Given the description of an element on the screen output the (x, y) to click on. 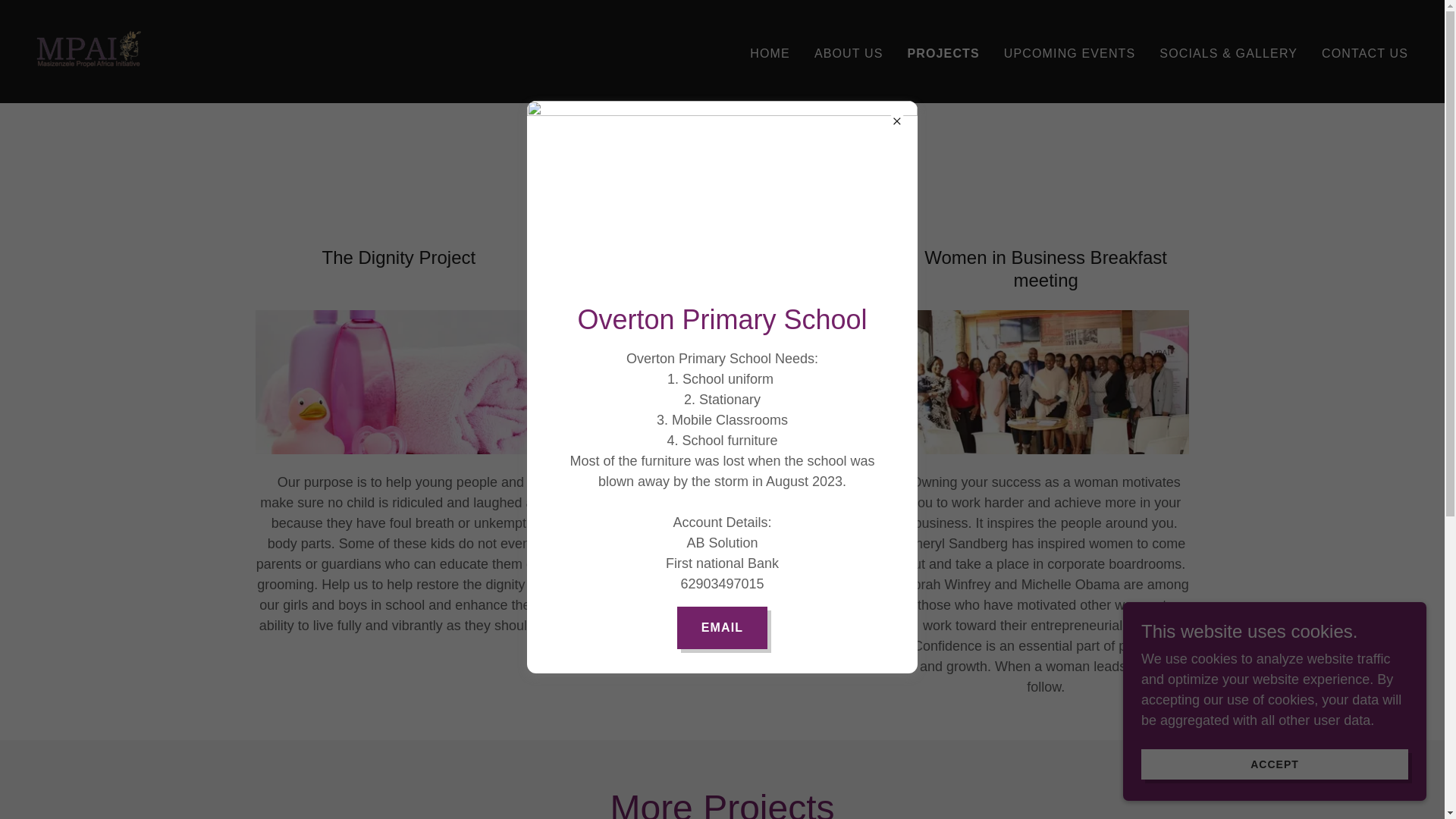
HOME (769, 52)
UPCOMING EVENTS (1069, 52)
PROJECTS (942, 53)
CONTACT US (1364, 52)
ABOUT US (848, 52)
ACCEPT (1274, 764)
EMAIL (722, 627)
MPAI (88, 50)
